Given the description of an element on the screen output the (x, y) to click on. 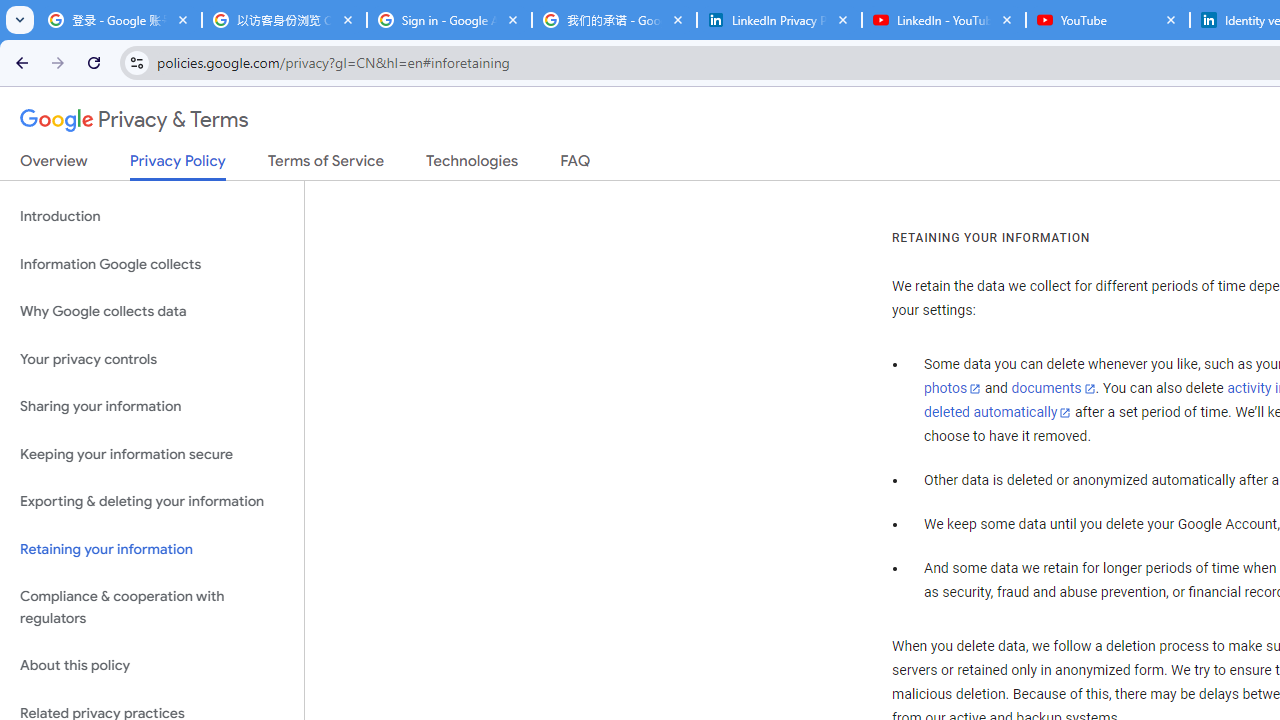
Retaining your information (152, 548)
Exporting & deleting your information (152, 502)
Information Google collects (152, 263)
